Given the description of an element on the screen output the (x, y) to click on. 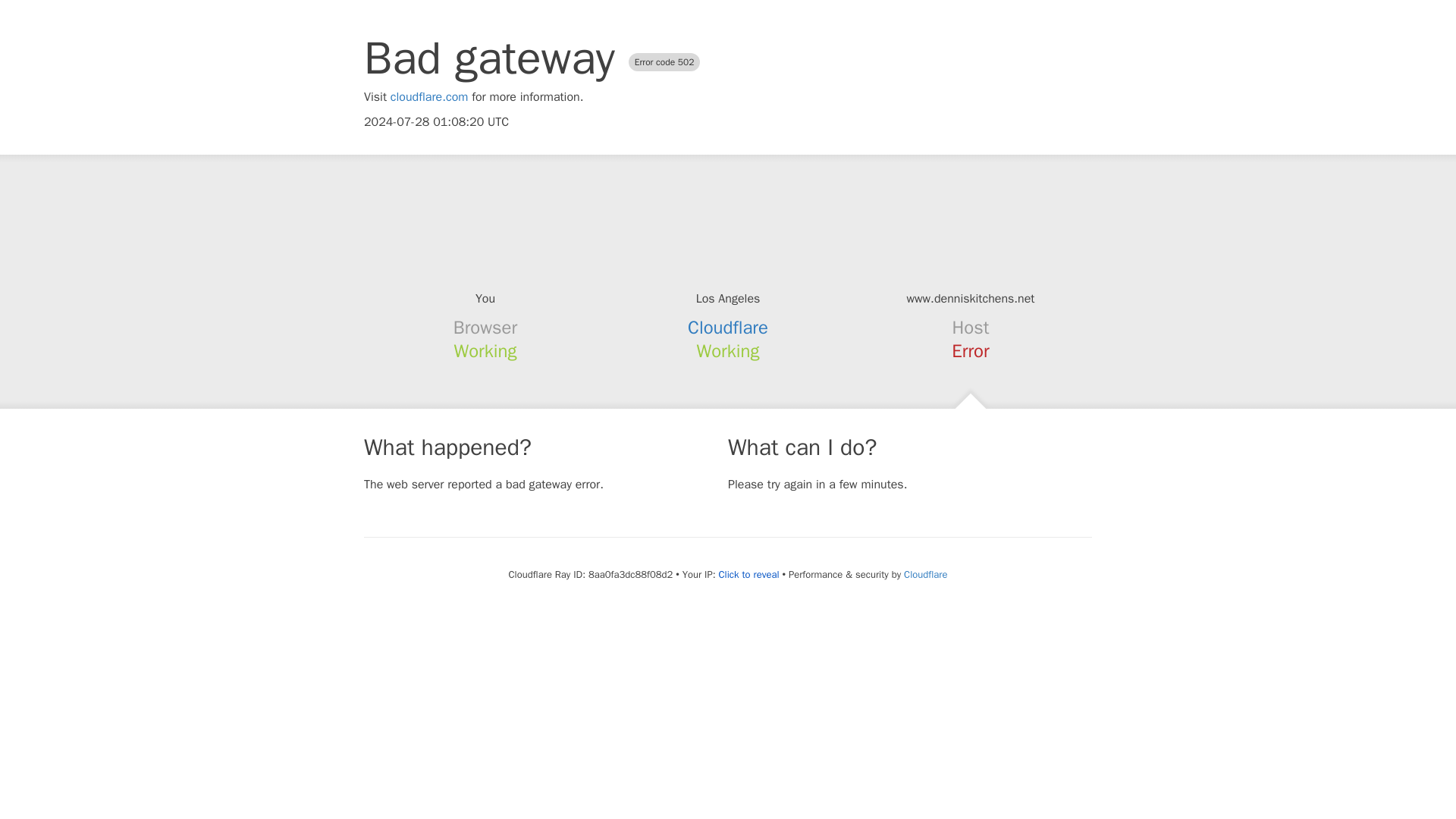
Cloudflare (727, 327)
Click to reveal (748, 574)
cloudflare.com (429, 96)
Cloudflare (925, 574)
